Given the description of an element on the screen output the (x, y) to click on. 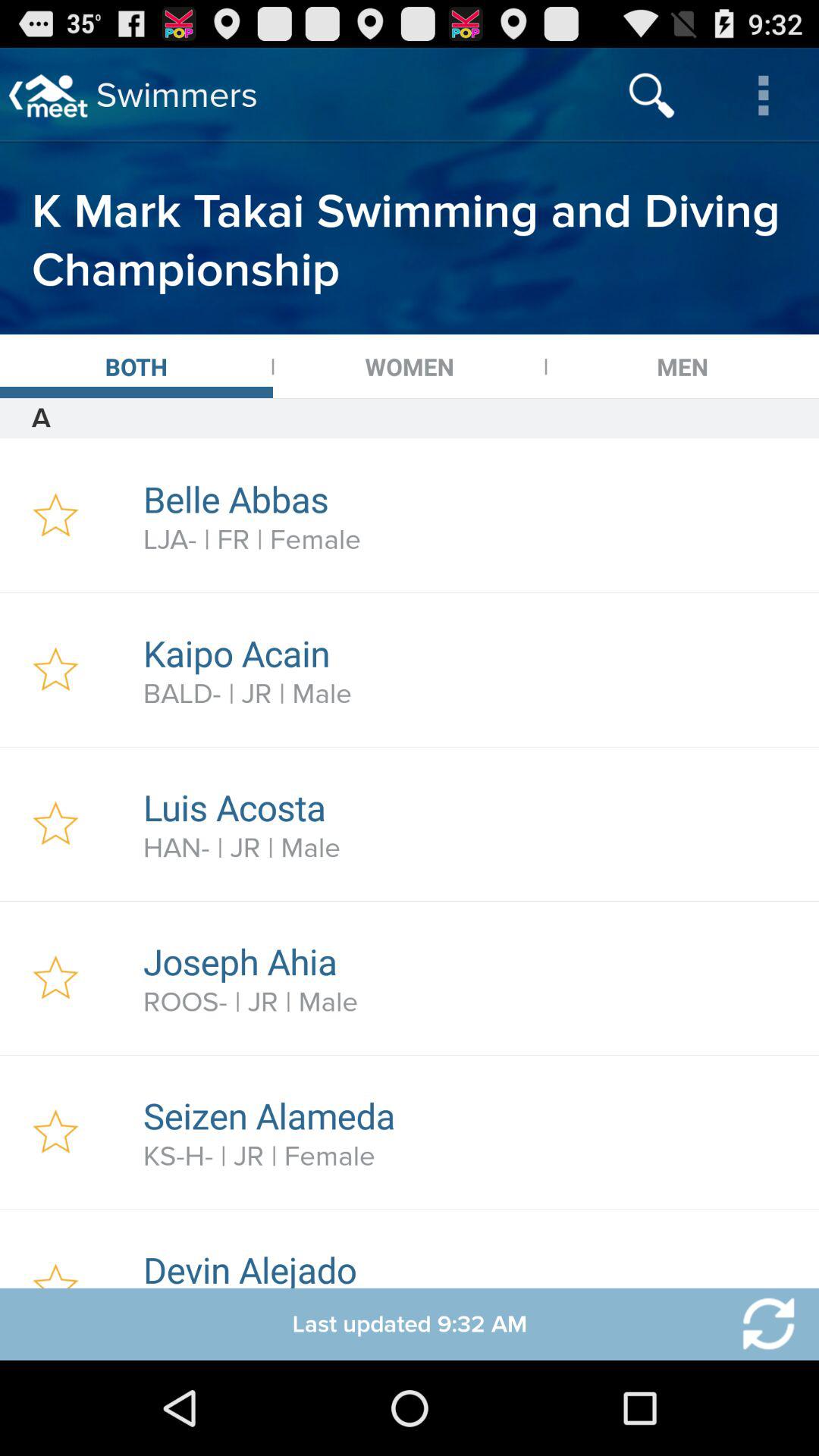
select the search icon (651, 95)
